Given the description of an element on the screen output the (x, y) to click on. 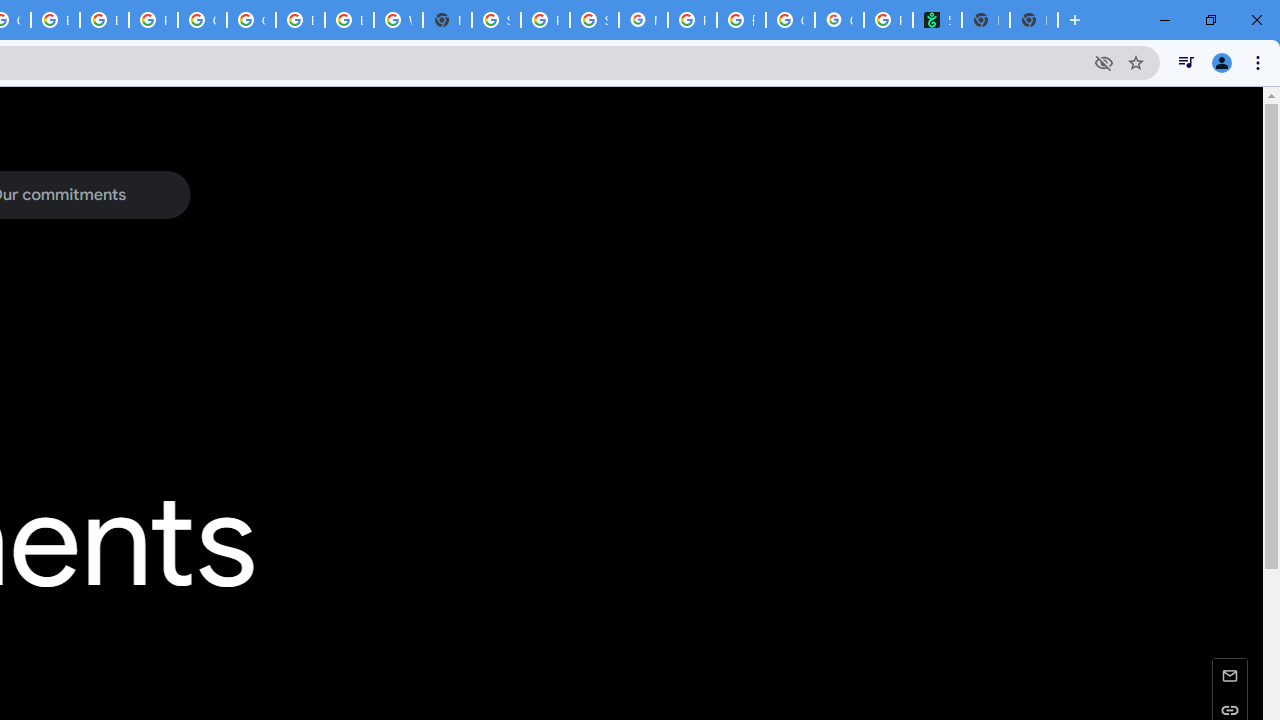
Share this page (Email) (1230, 674)
Sign in - Google Accounts (496, 20)
Google Cloud Platform (251, 20)
New Tab (447, 20)
Browse Chrome as a guest - Computer - Google Chrome Help (55, 20)
Control your music, videos, and more (1185, 62)
Browse Chrome as a guest - Computer - Google Chrome Help (300, 20)
Third-party cookies blocked (1103, 62)
